Given the description of an element on the screen output the (x, y) to click on. 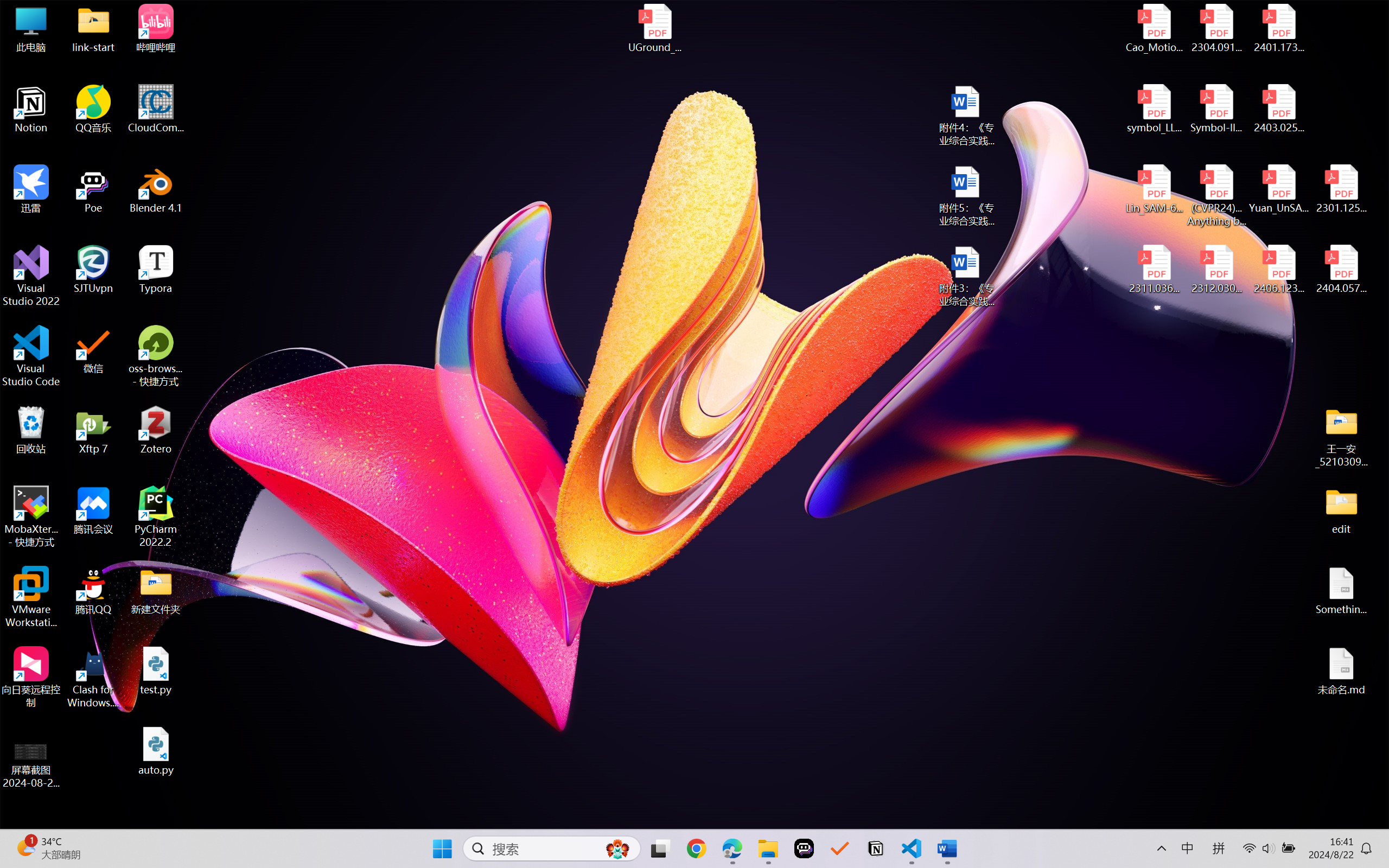
SJTUvpn (93, 269)
2404.05719v1.pdf (1340, 269)
2403.02502v1.pdf (1278, 109)
Typora (156, 269)
